Given the description of an element on the screen output the (x, y) to click on. 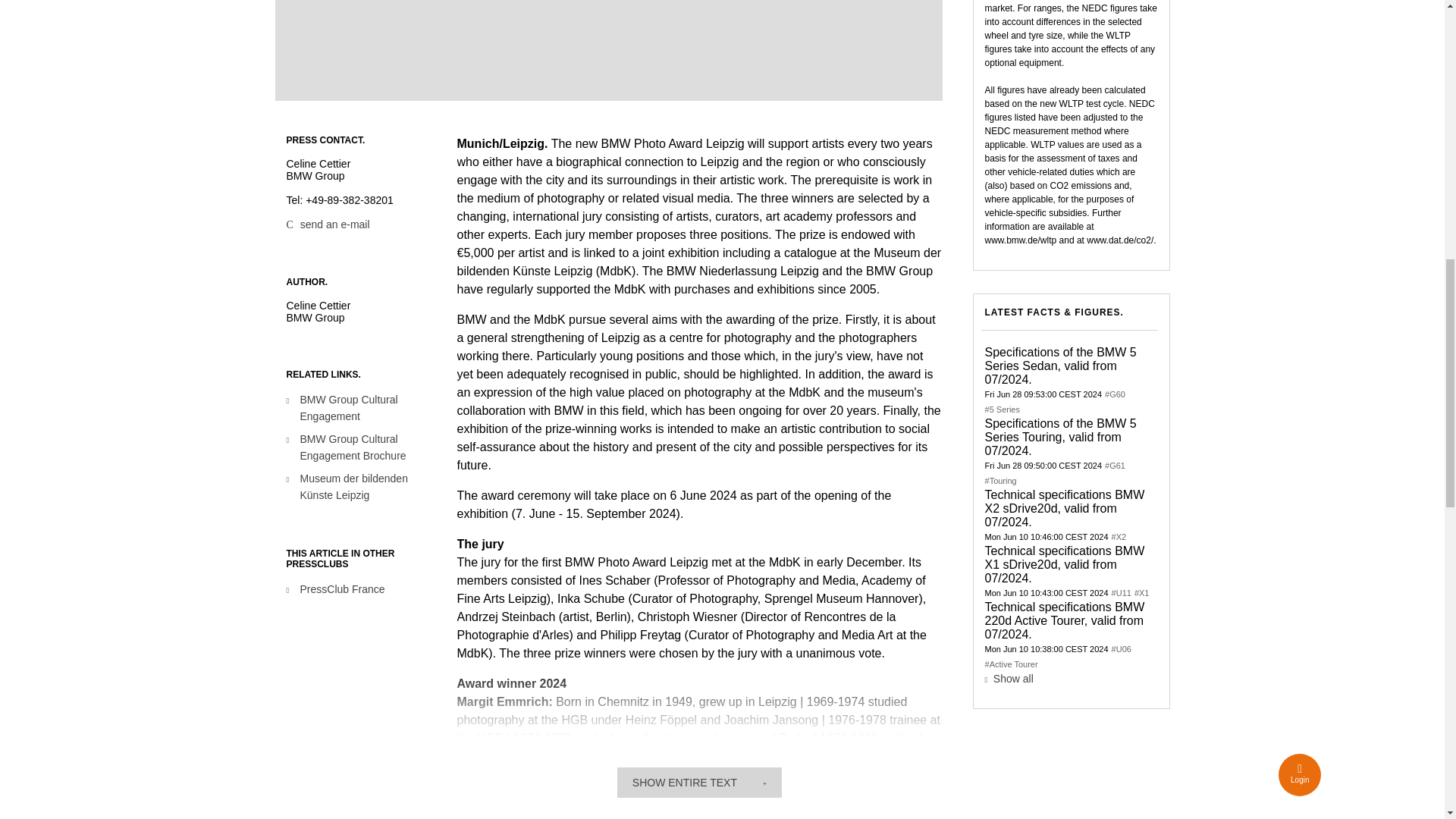
BMW Group Cultural Engagement Brochure (366, 447)
SHOW ENTIRE TEXT (699, 782)
PressClub France (366, 589)
BMW Group Cultural Engagement (366, 408)
send an e-mail (327, 224)
